Given the description of an element on the screen output the (x, y) to click on. 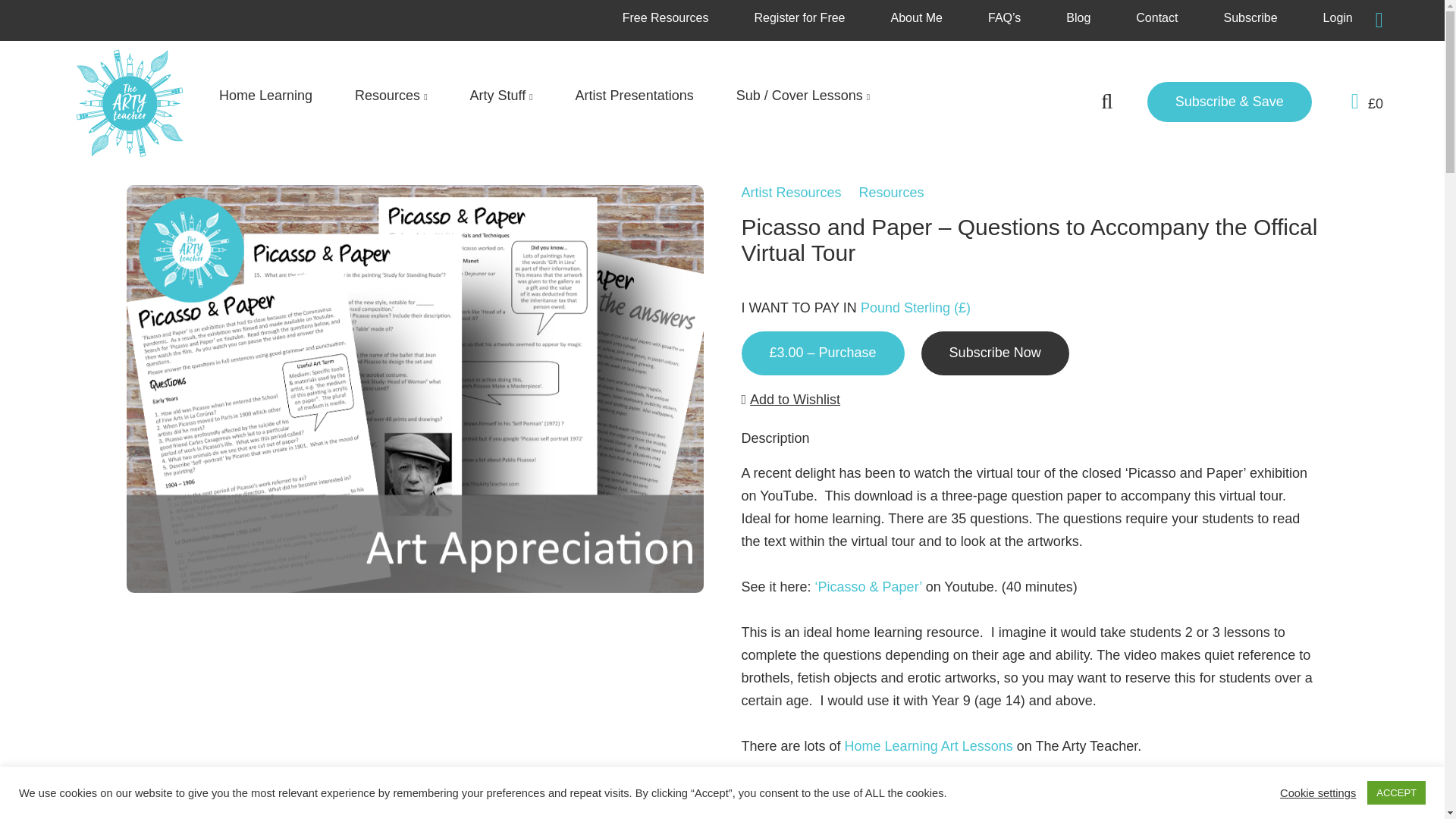
Resources (390, 95)
About Me (916, 18)
Subscribe (1249, 18)
Contact (1156, 18)
Free Resources (665, 18)
Arty Stuff (501, 95)
Login (1337, 18)
Register for Free (798, 18)
The Arty Teacher (957, 811)
Home Learning (265, 95)
Blog (1078, 18)
